Given the description of an element on the screen output the (x, y) to click on. 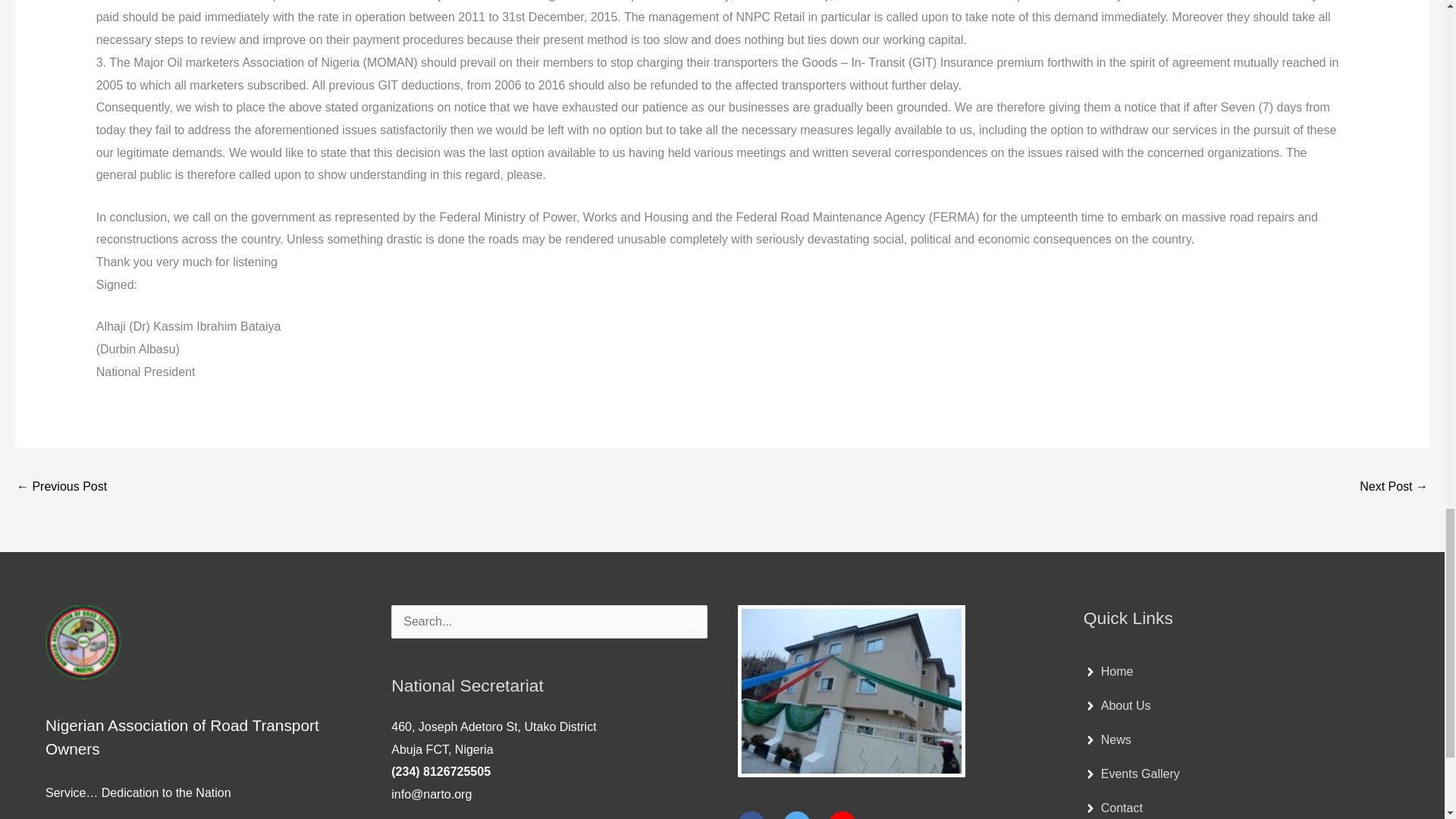
Contact (1112, 807)
About Us (1117, 705)
Home (1108, 671)
News (1107, 739)
Events Gallery (1131, 774)
